Given the description of an element on the screen output the (x, y) to click on. 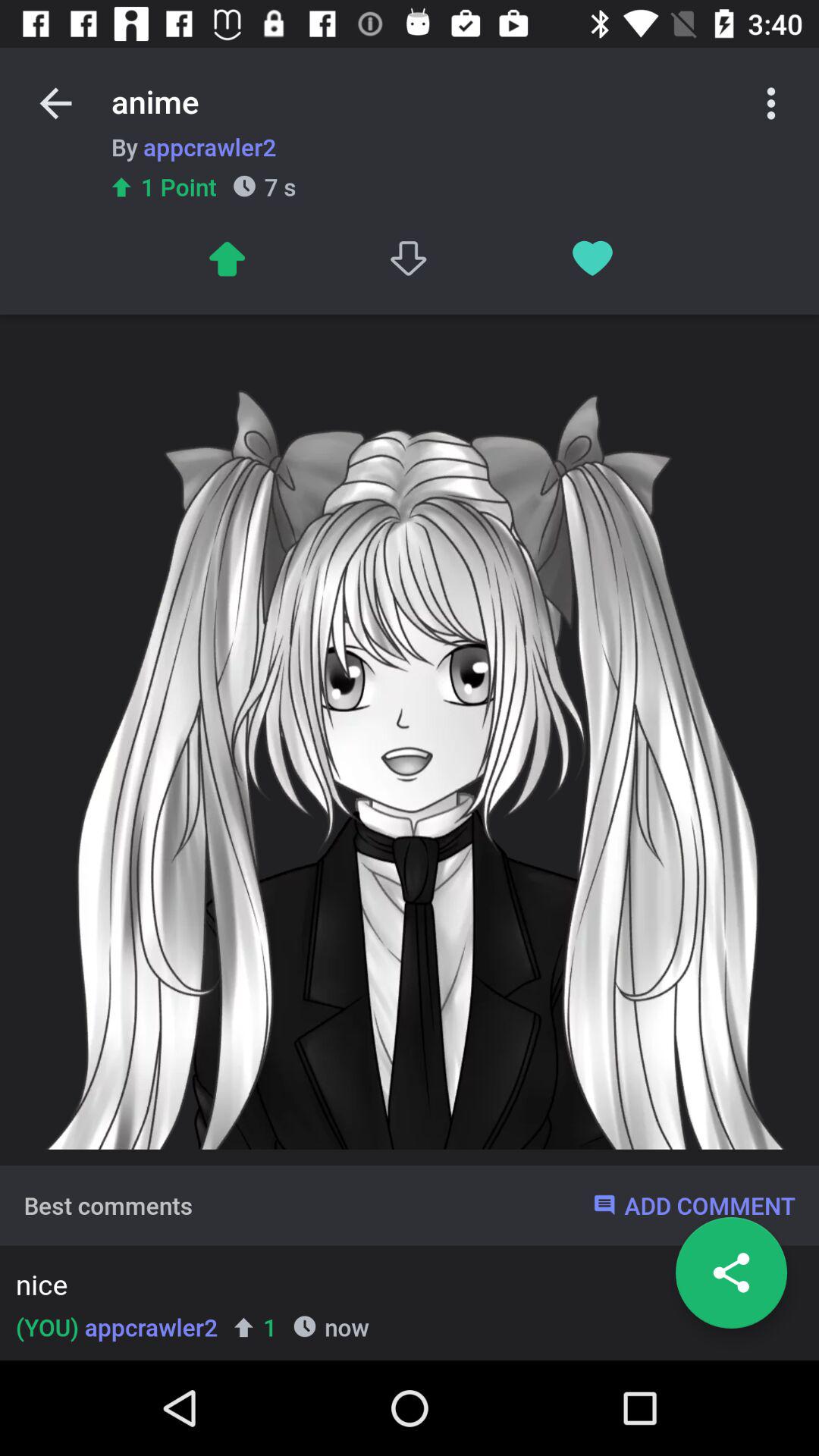
click the icon next to the best comments (693, 1205)
